Given the description of an element on the screen output the (x, y) to click on. 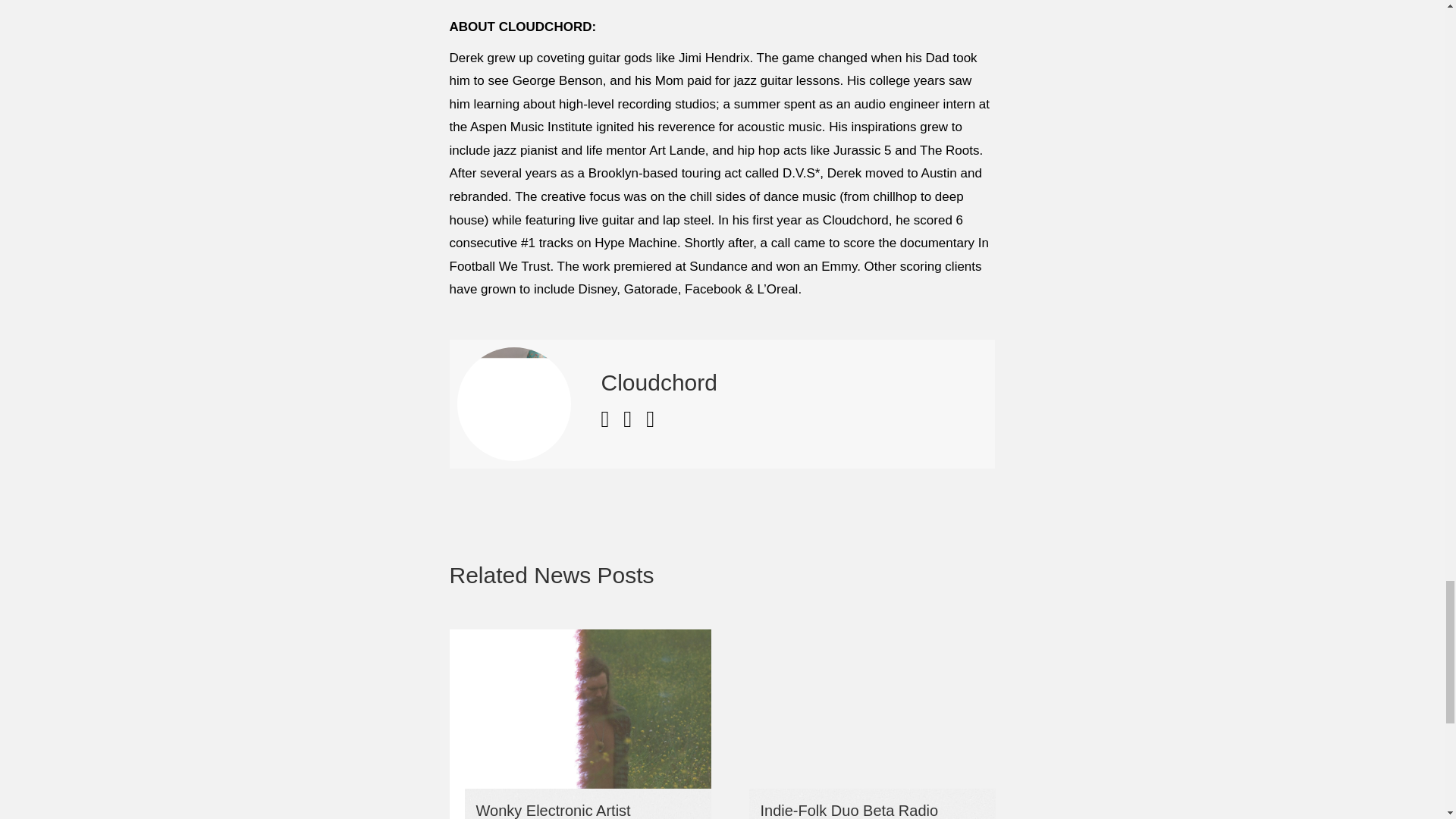
Cloudchord (657, 382)
Cloudchord (657, 382)
